Given the description of an element on the screen output the (x, y) to click on. 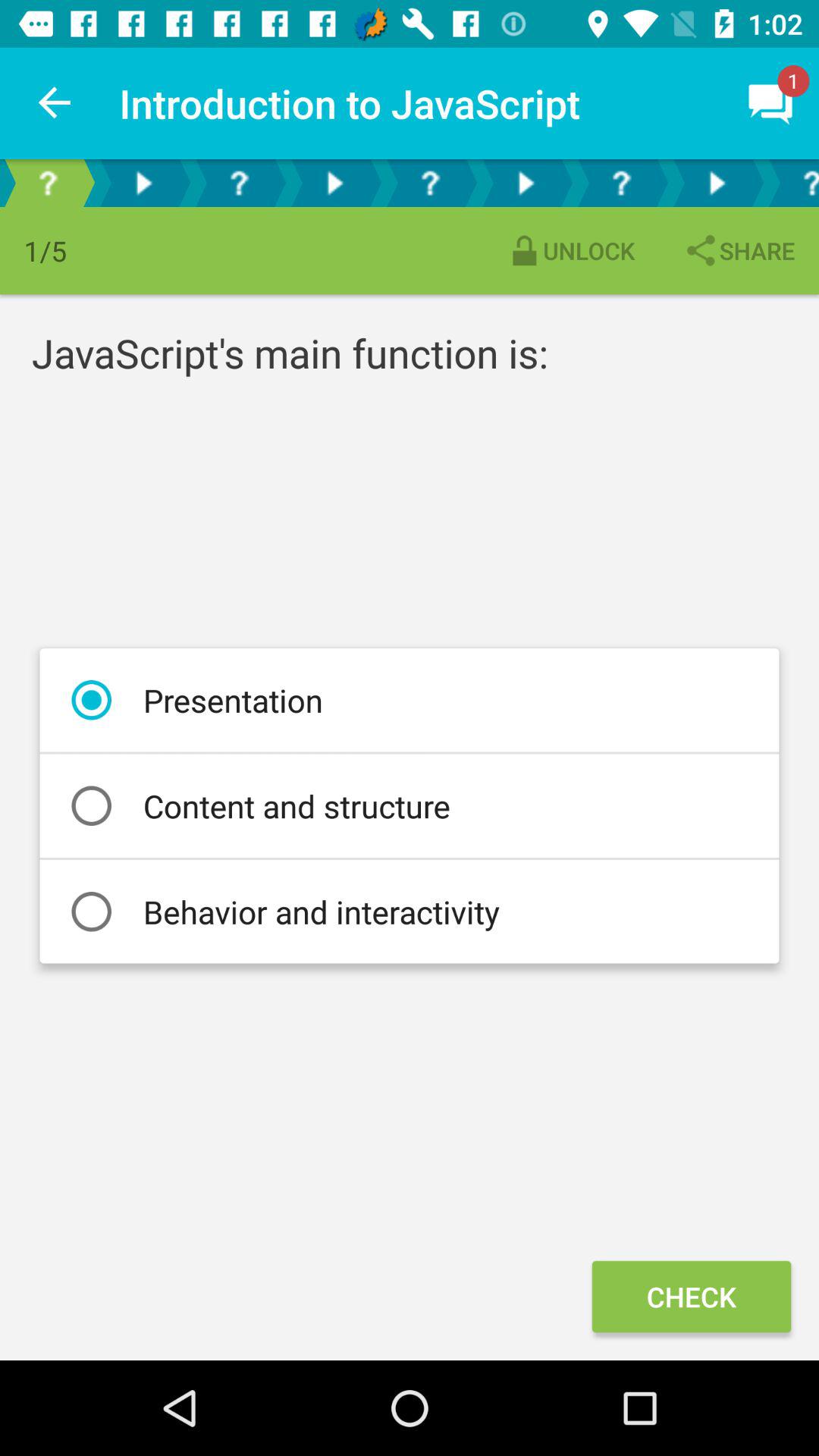
go to next step (716, 183)
